Given the description of an element on the screen output the (x, y) to click on. 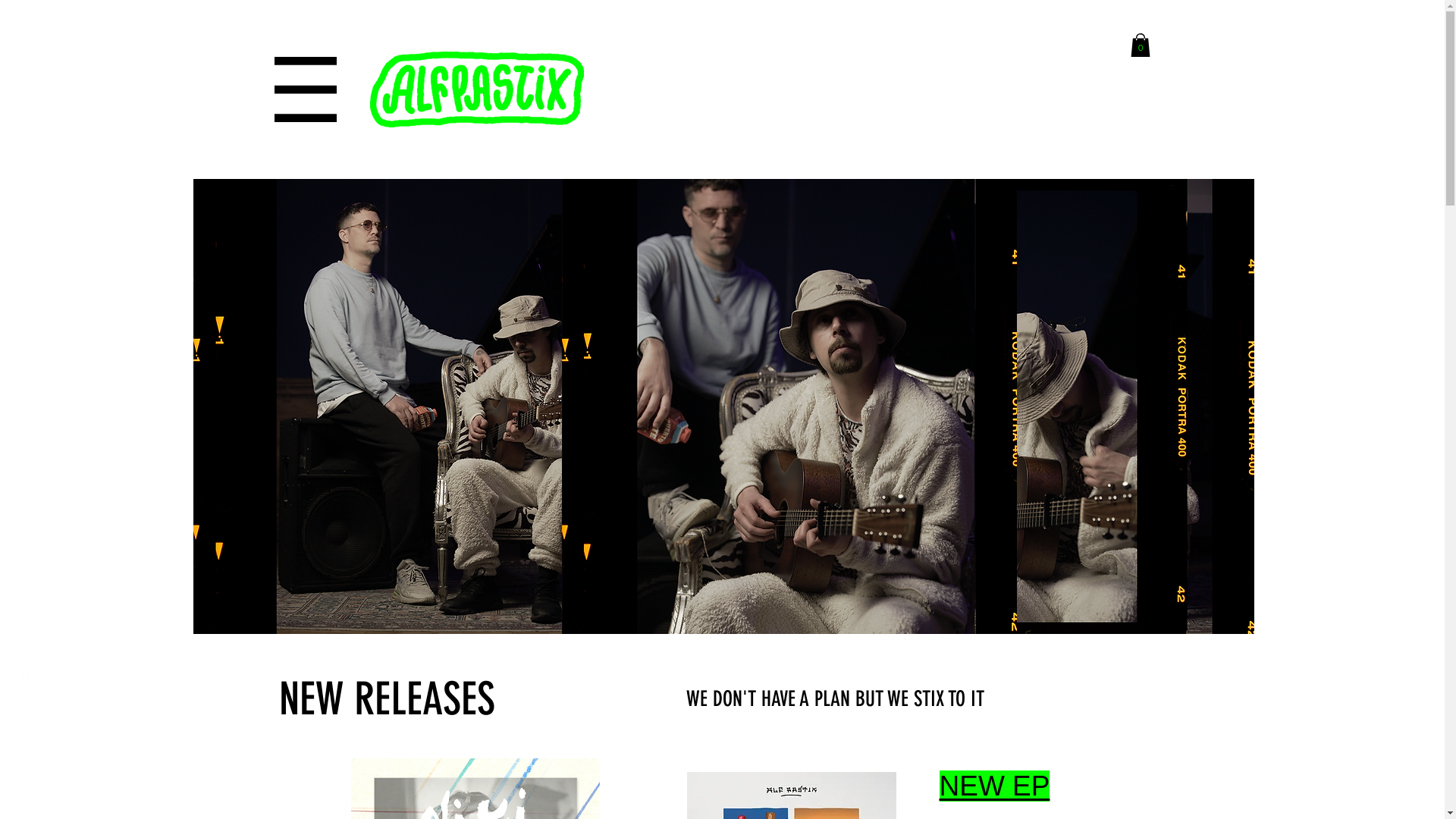
MORE Element type: text (424, 567)
NEW EP Element type: text (993, 785)
0 Element type: text (1139, 44)
